Given the description of an element on the screen output the (x, y) to click on. 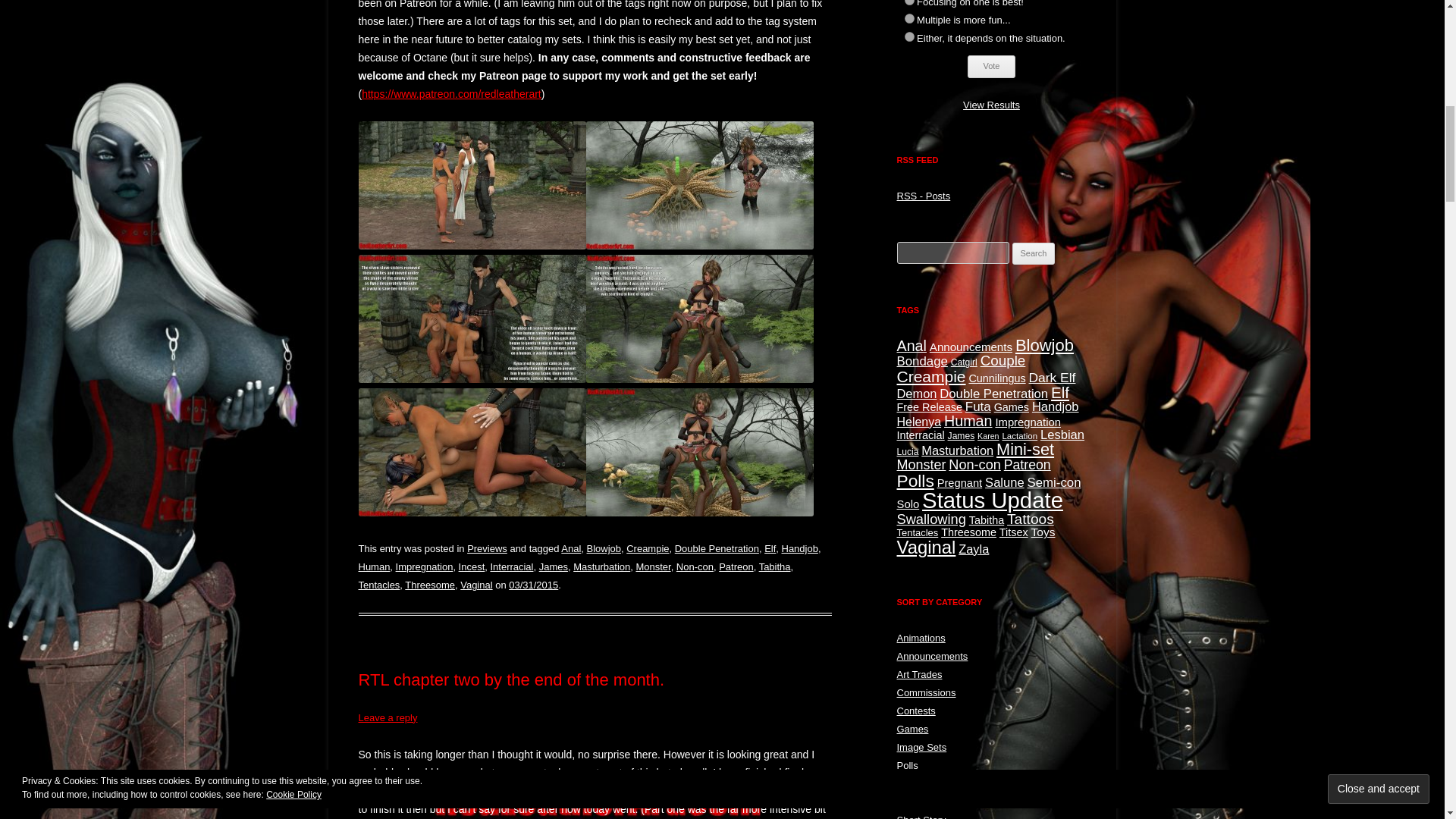
Handjob (798, 548)
1108 (909, 2)
   Vote    (991, 66)
Human (374, 566)
My Patreon! (451, 93)
1109 (909, 18)
Anal (570, 548)
Impregnation (424, 566)
Double Penetration (716, 548)
Masturbation (601, 566)
7:24 PM (532, 584)
Previews (486, 548)
Blowjob (603, 548)
Search (1033, 253)
Creampie (647, 548)
